Given the description of an element on the screen output the (x, y) to click on. 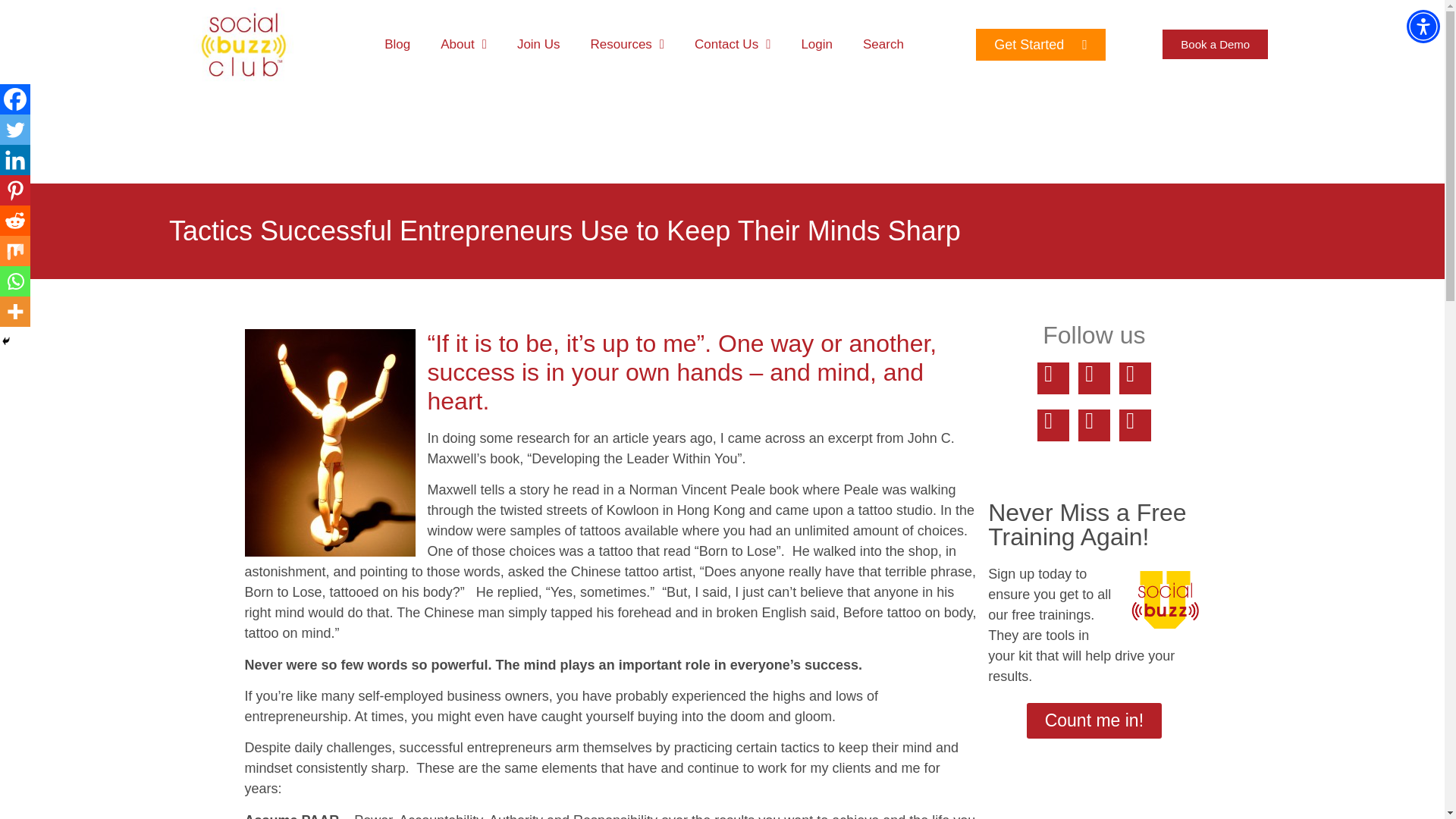
Hide (5, 340)
Book a Demo (1214, 43)
Accessibility Menu (1422, 26)
Facebook (15, 99)
Join Us (538, 44)
About (463, 44)
Contact Us (732, 44)
Login (816, 44)
Reddit (15, 220)
Get Started (1040, 44)
More (15, 311)
Twitter (15, 129)
Mix (15, 250)
Blog (397, 44)
Search (882, 44)
